Given the description of an element on the screen output the (x, y) to click on. 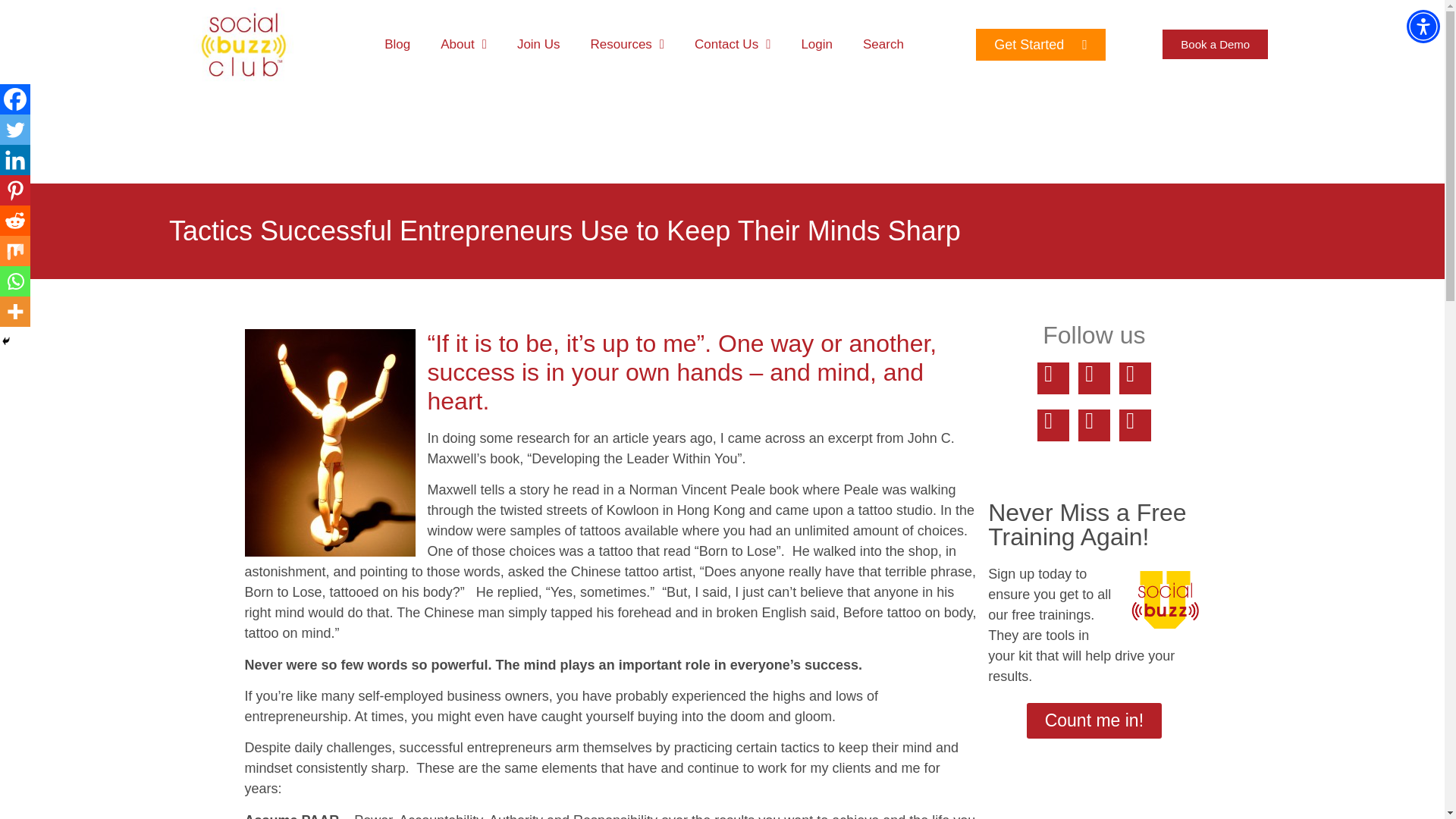
Hide (5, 340)
Book a Demo (1214, 43)
Accessibility Menu (1422, 26)
Facebook (15, 99)
Join Us (538, 44)
About (463, 44)
Contact Us (732, 44)
Login (816, 44)
Reddit (15, 220)
Get Started (1040, 44)
More (15, 311)
Twitter (15, 129)
Mix (15, 250)
Blog (397, 44)
Search (882, 44)
